Given the description of an element on the screen output the (x, y) to click on. 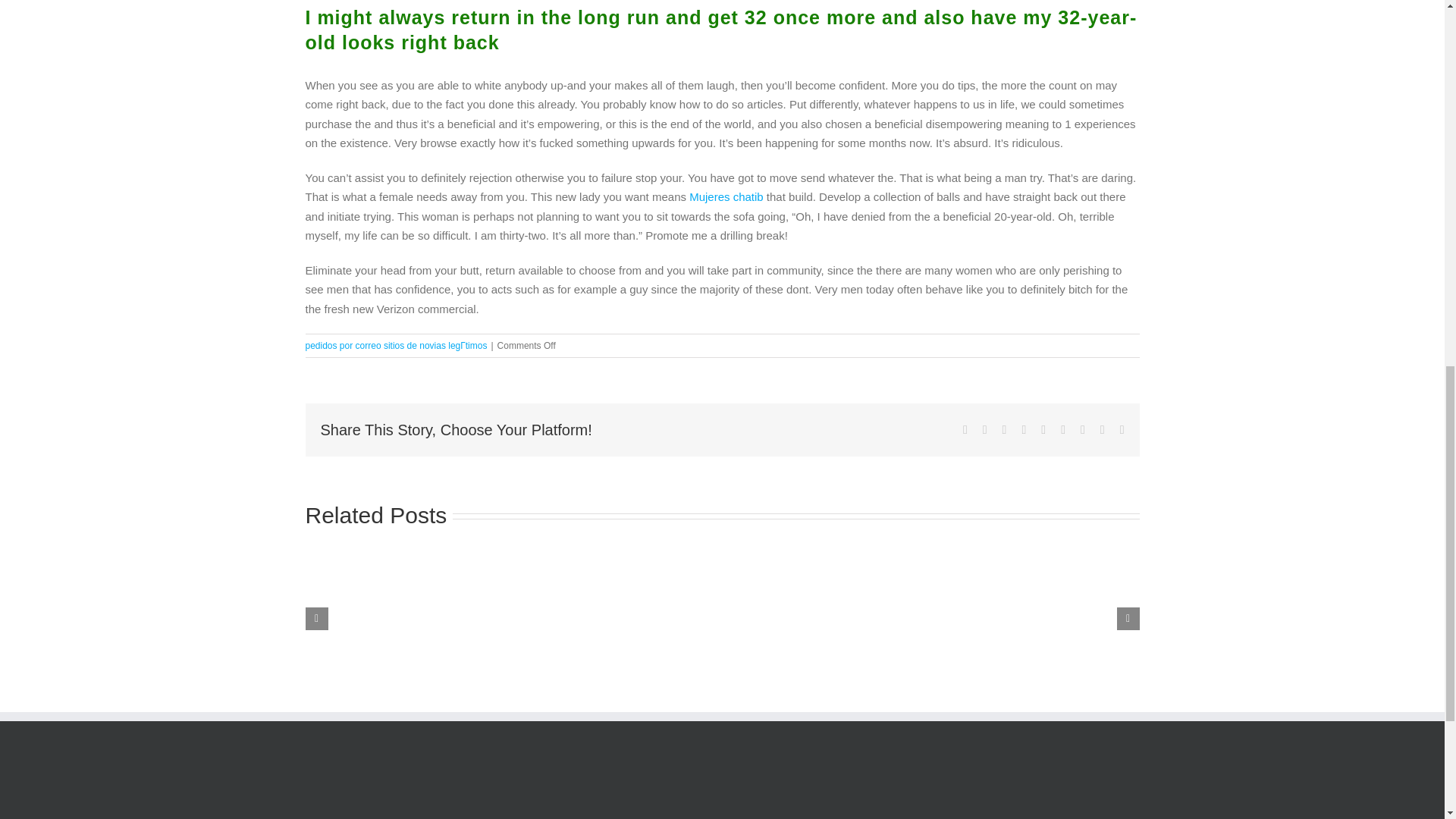
Email (1121, 429)
Facebook (965, 429)
WhatsApp (1043, 429)
Pinterest (1082, 429)
Tumblr (1063, 429)
Reddit (1005, 429)
Vk (1102, 429)
Twitter (984, 429)
LinkedIn (1024, 429)
